Given the description of an element on the screen output the (x, y) to click on. 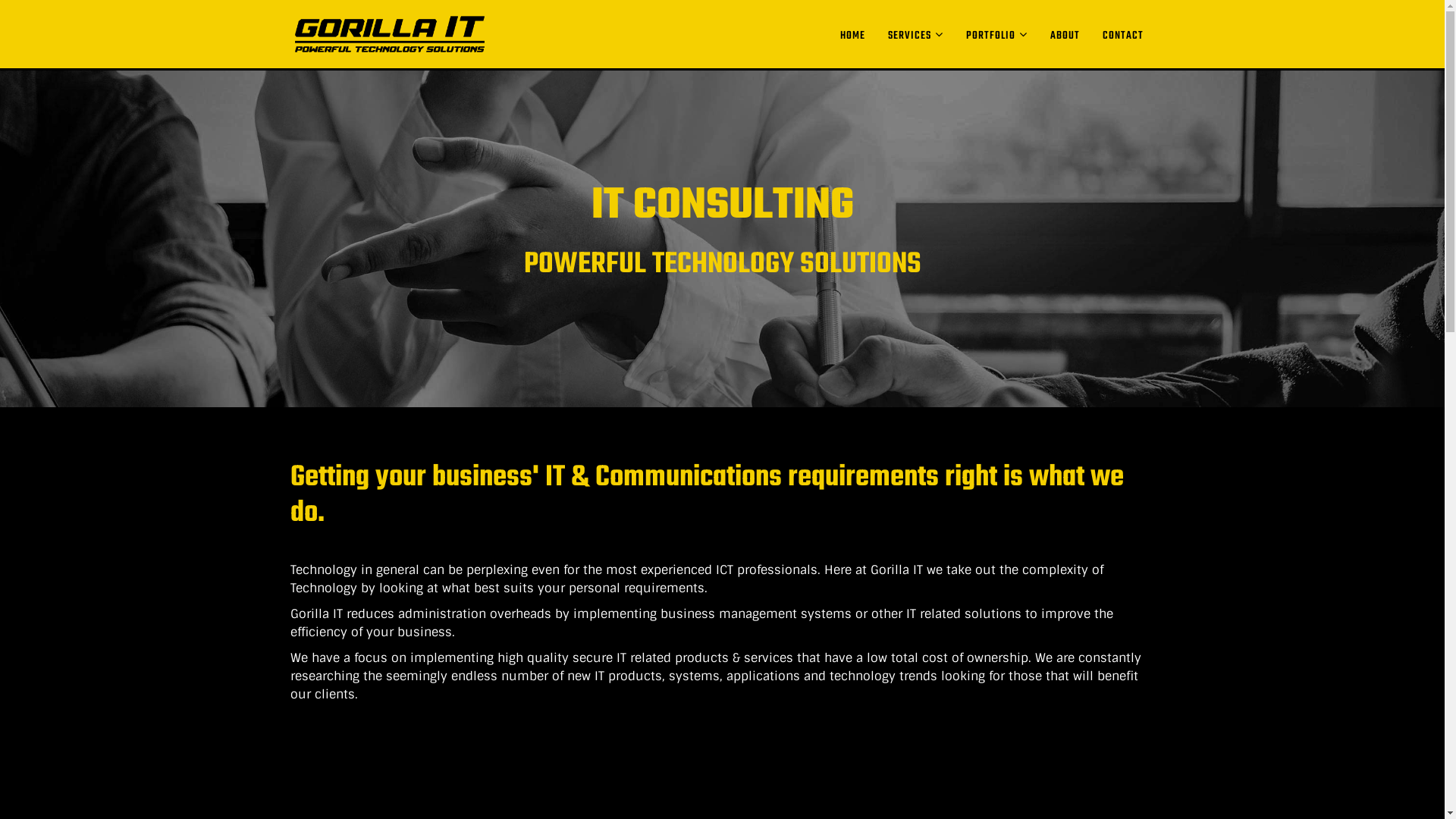
CONTACT Element type: text (1122, 36)
SERVICES Element type: text (915, 35)
HOME Element type: text (851, 36)
PORTFOLIO Element type: text (995, 35)
ABOUT Element type: text (1064, 36)
